Given the description of an element on the screen output the (x, y) to click on. 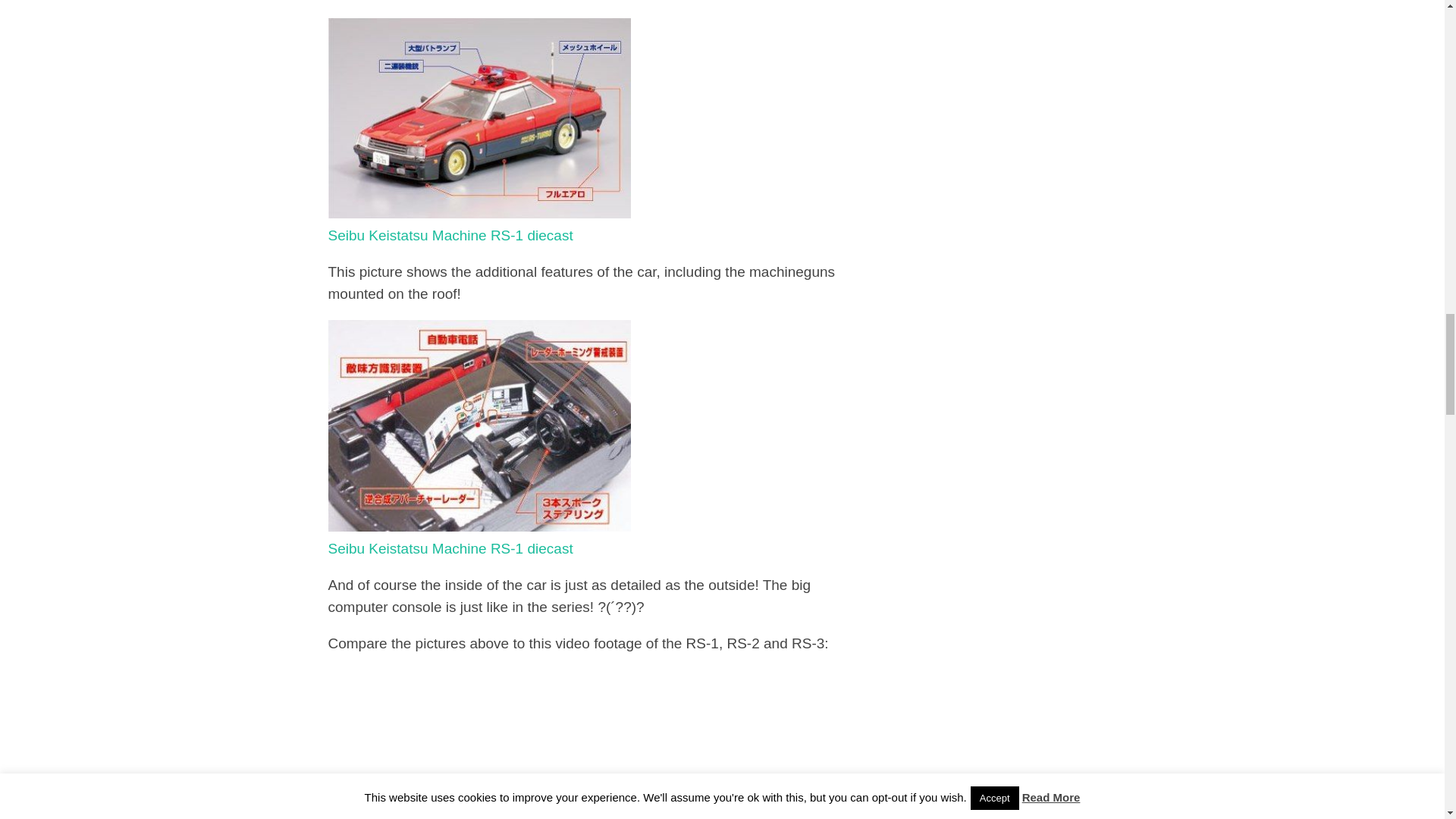
Seibu Keistatsu Machine RS-1 diecast (478, 224)
Seibu Keistatsu Machine RS-1 diecast (478, 118)
Seibu Keistatsu Machine RS-1 diecast (478, 537)
Seibu Keistatsu Machine RS-1 diecast (478, 537)
Seibu Keistatsu Machine RS-1 diecast (478, 224)
Seibu Keistatsu Machine RS-1 diecast (478, 425)
